Given the description of an element on the screen output the (x, y) to click on. 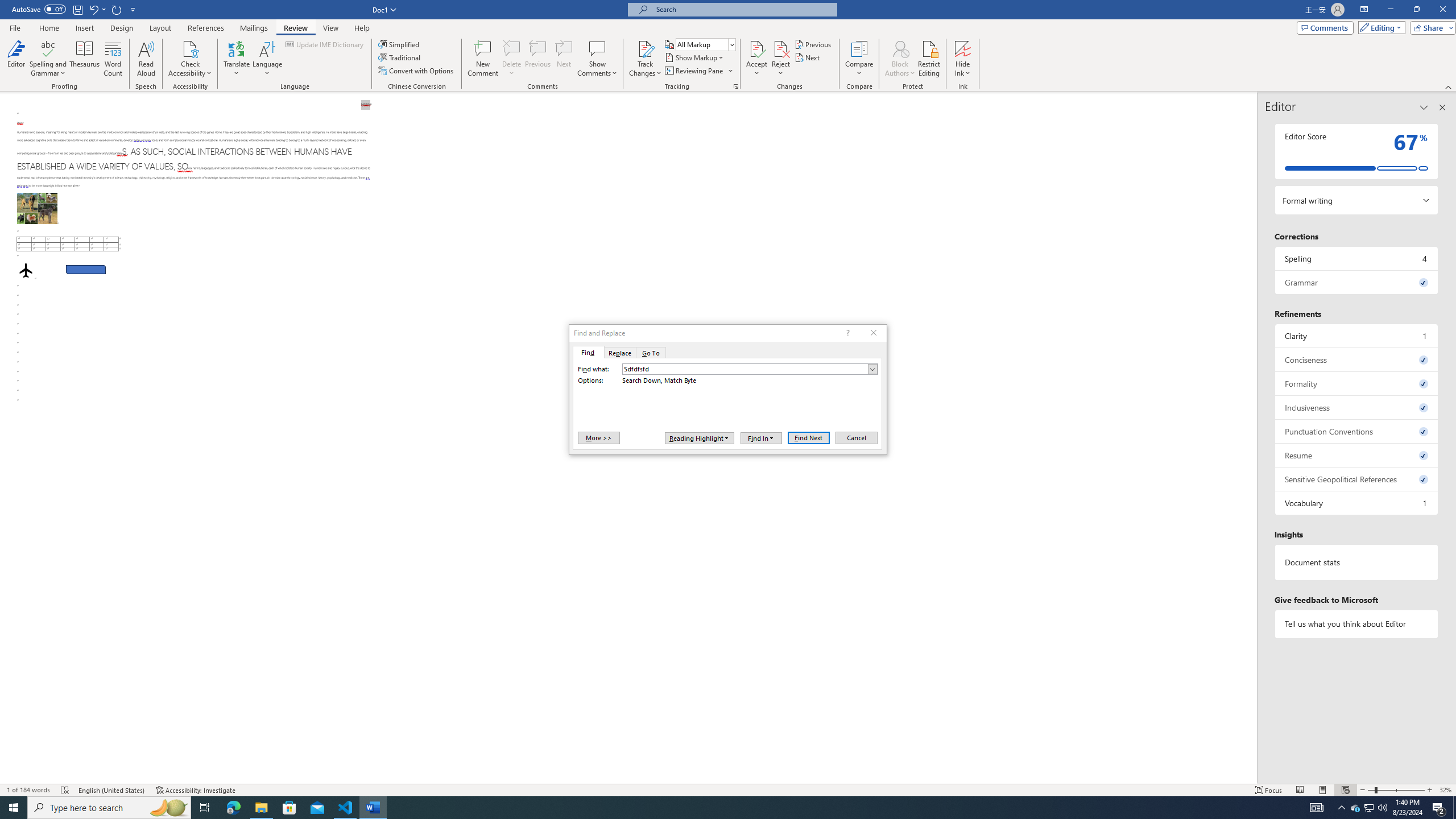
Editor Score 67% (1356, 151)
